Given the description of an element on the screen output the (x, y) to click on. 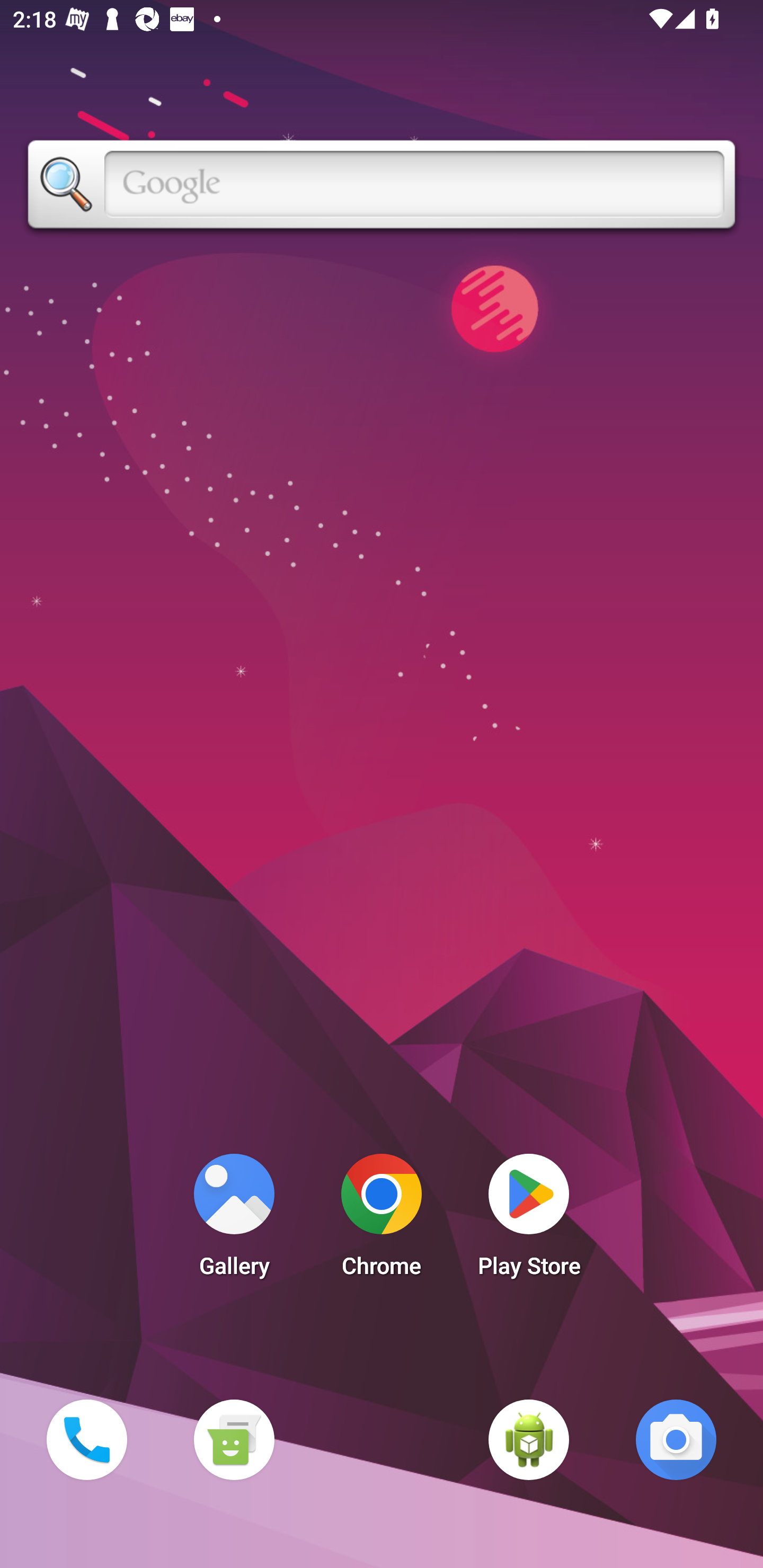
Gallery (233, 1220)
Chrome (381, 1220)
Play Store (528, 1220)
Phone (86, 1439)
Messaging (233, 1439)
WebView Browser Tester (528, 1439)
Camera (676, 1439)
